Given the description of an element on the screen output the (x, y) to click on. 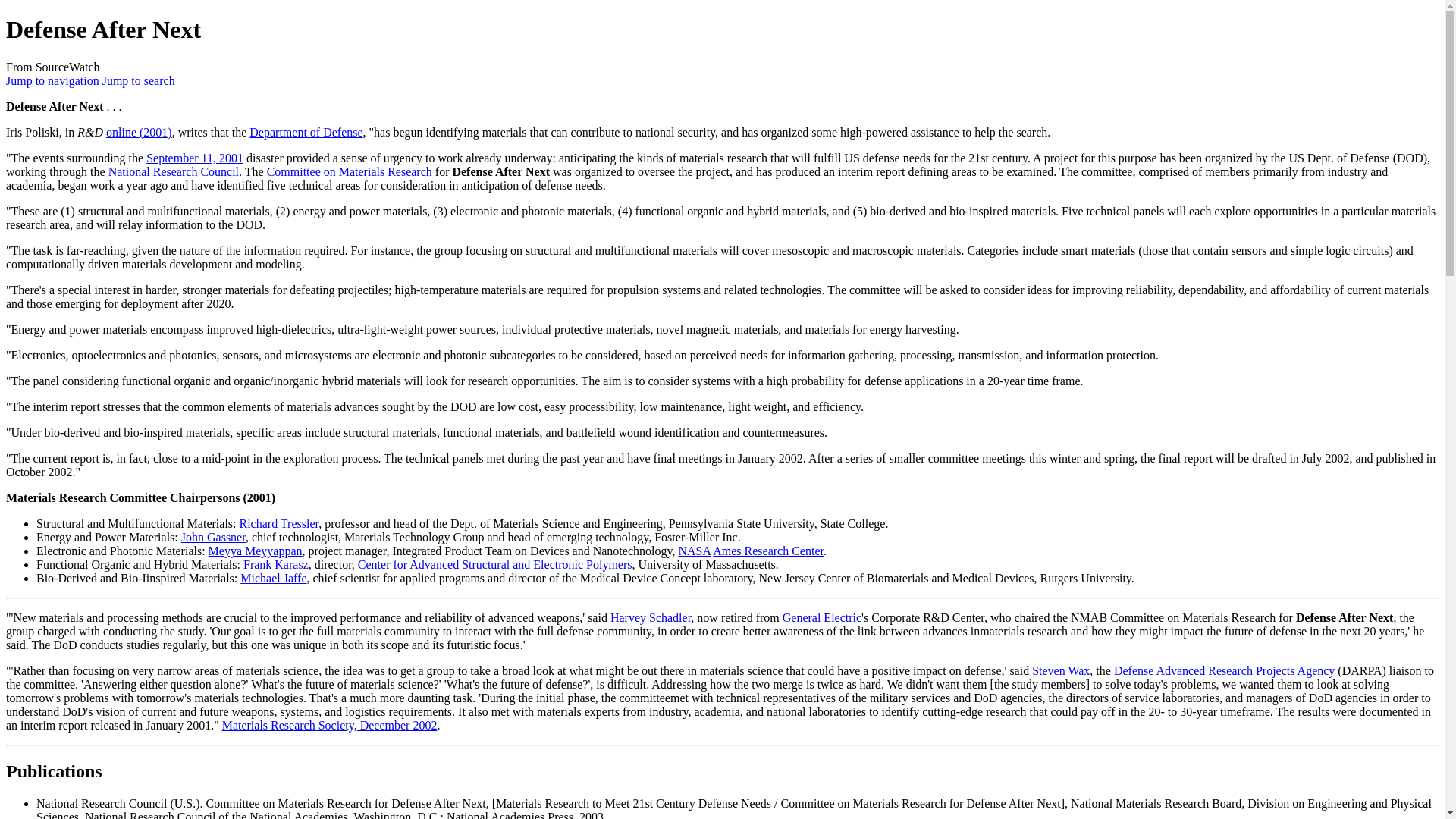
Frank Karasz (275, 563)
Department of Defense (305, 132)
General Electric (822, 617)
National Research Council (172, 171)
Jump to search (137, 80)
Richard Tressler (279, 522)
Ames Research Center (768, 550)
John Gassner (213, 536)
Defense Advanced Research Projects Agency (1224, 670)
Center for Advanced Structural and Electronic Polymers (494, 563)
NASA (694, 550)
Ames Research Center (768, 550)
Defense Advanced Research Projects Agency (1224, 670)
National Research Council (172, 171)
Department of Defense (305, 132)
